Given the description of an element on the screen output the (x, y) to click on. 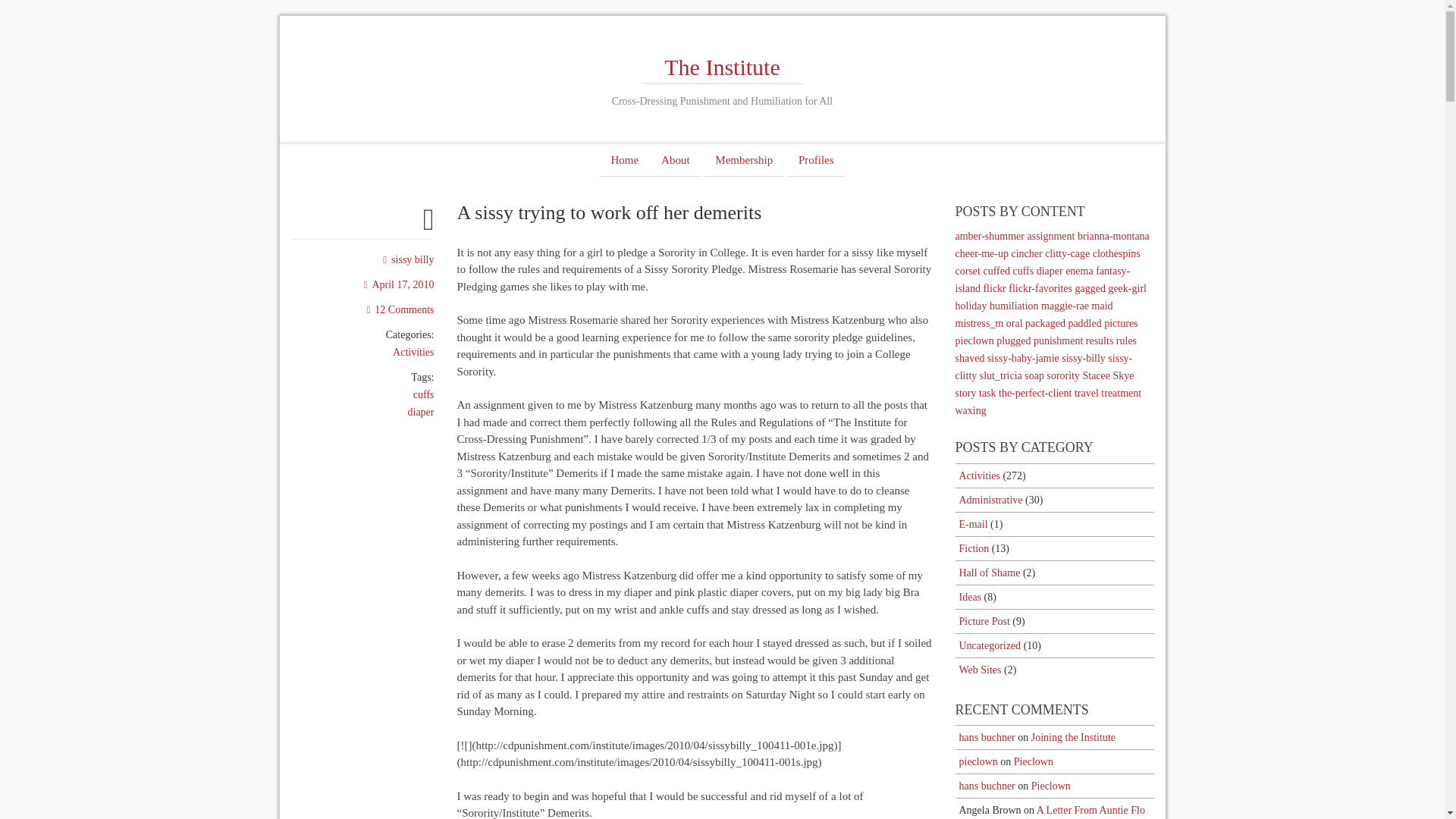
sissy billy (407, 259)
cuffs (423, 394)
Go to comment section (399, 309)
12 Comments (399, 309)
Home (623, 160)
April 17, 2010 (398, 284)
diaper (420, 411)
Permalink to A sissy trying to work off her demerits (428, 225)
Membership (743, 160)
Profiles (816, 160)
About (675, 160)
Activities (413, 351)
The Institute (722, 67)
Permalink to A sissy trying to work off her demerits (398, 284)
